Given the description of an element on the screen output the (x, y) to click on. 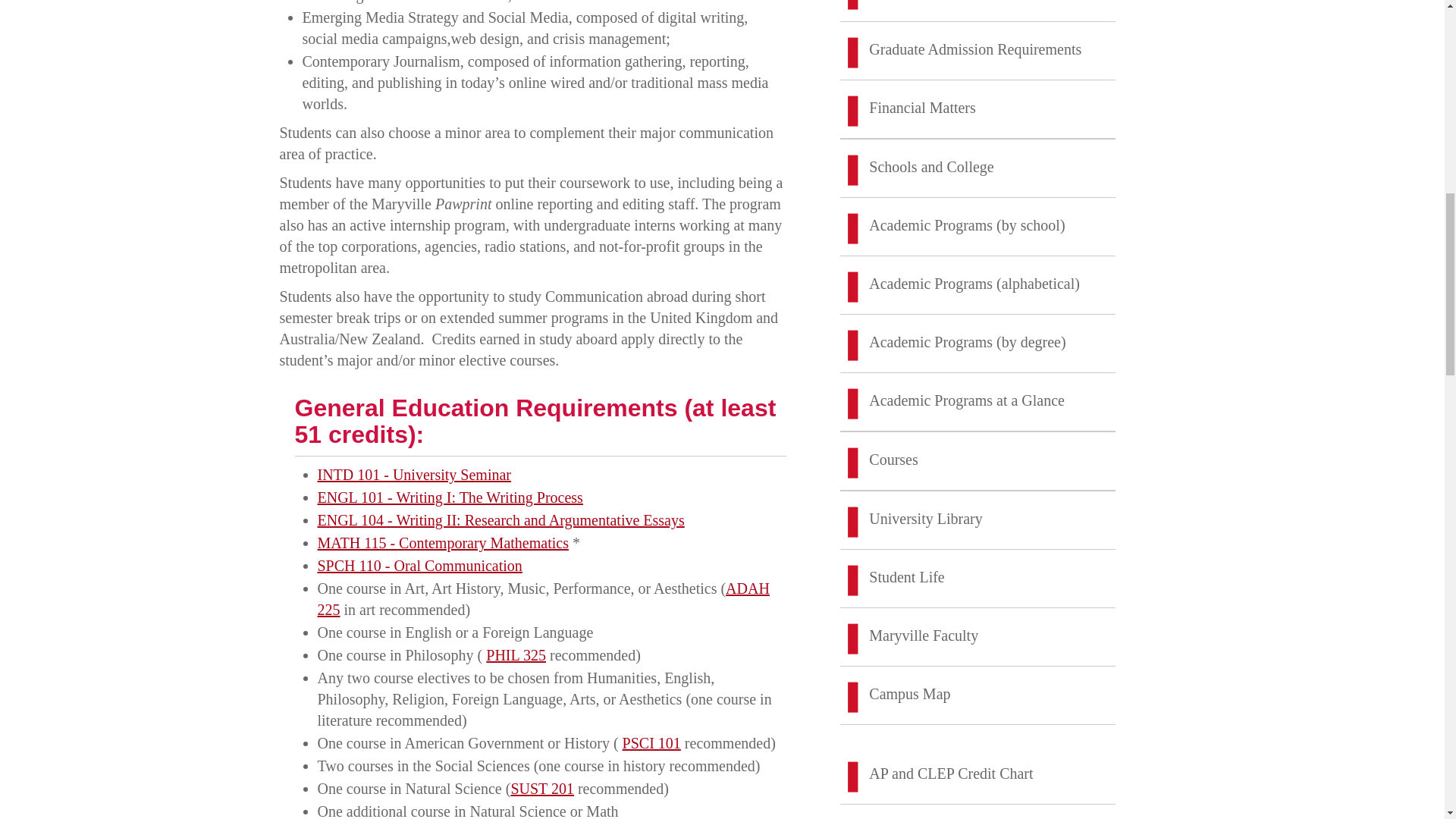
SPCH 110 - Oral Communication (419, 565)
PHIL 325 (516, 655)
ENGL 104 - Writing II: Research and Argumentative Essays (500, 519)
MATH 115 - Contemporary Mathematics (442, 542)
ENGL 101 - Writing I: The Writing Process (449, 497)
ADAH 225 (542, 598)
PSCI 101 (652, 742)
SUST 201 (542, 788)
INTD 101 - University Seminar (414, 474)
